Given the description of an element on the screen output the (x, y) to click on. 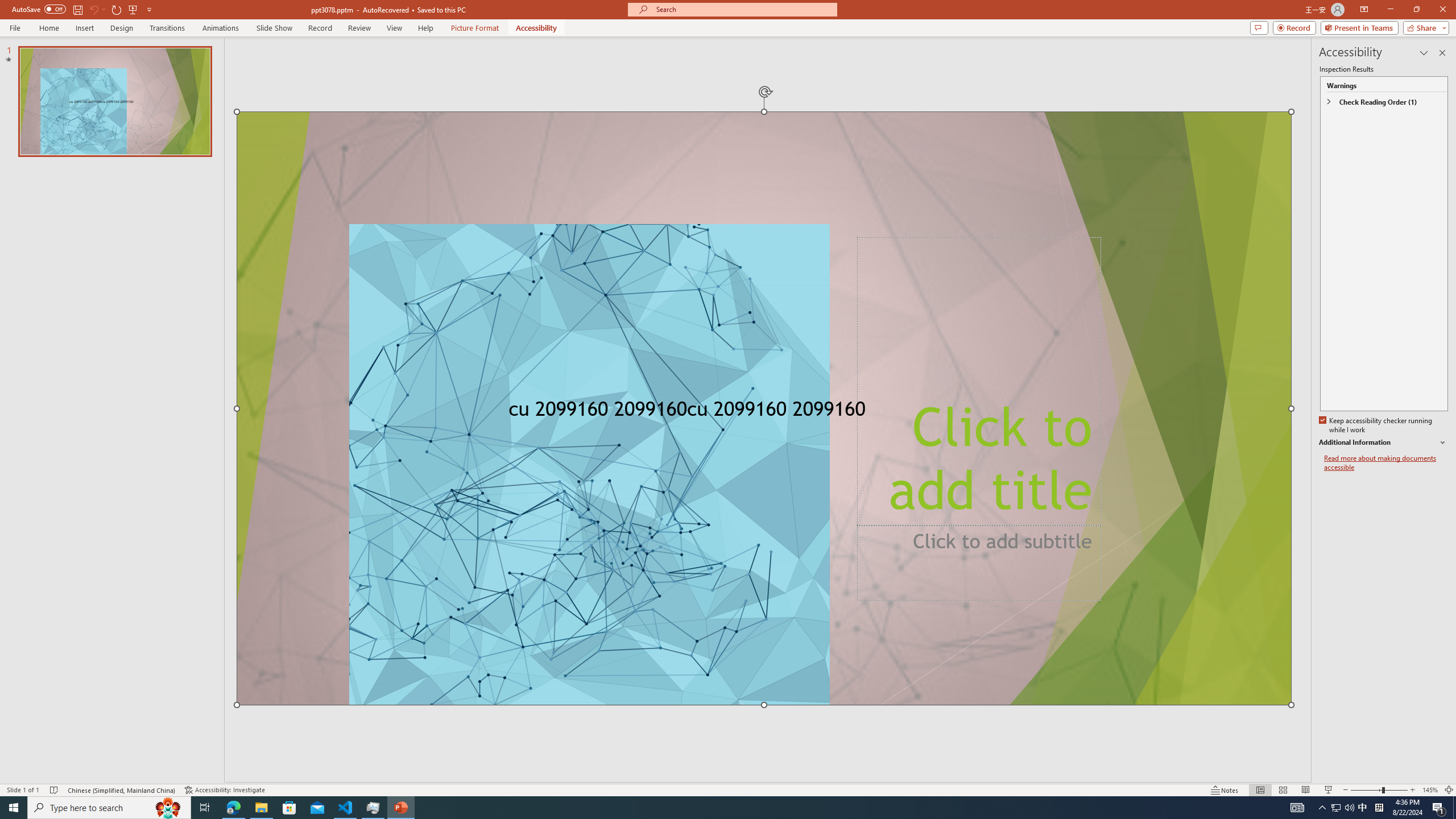
Picture Format (475, 28)
